Given the description of an element on the screen output the (x, y) to click on. 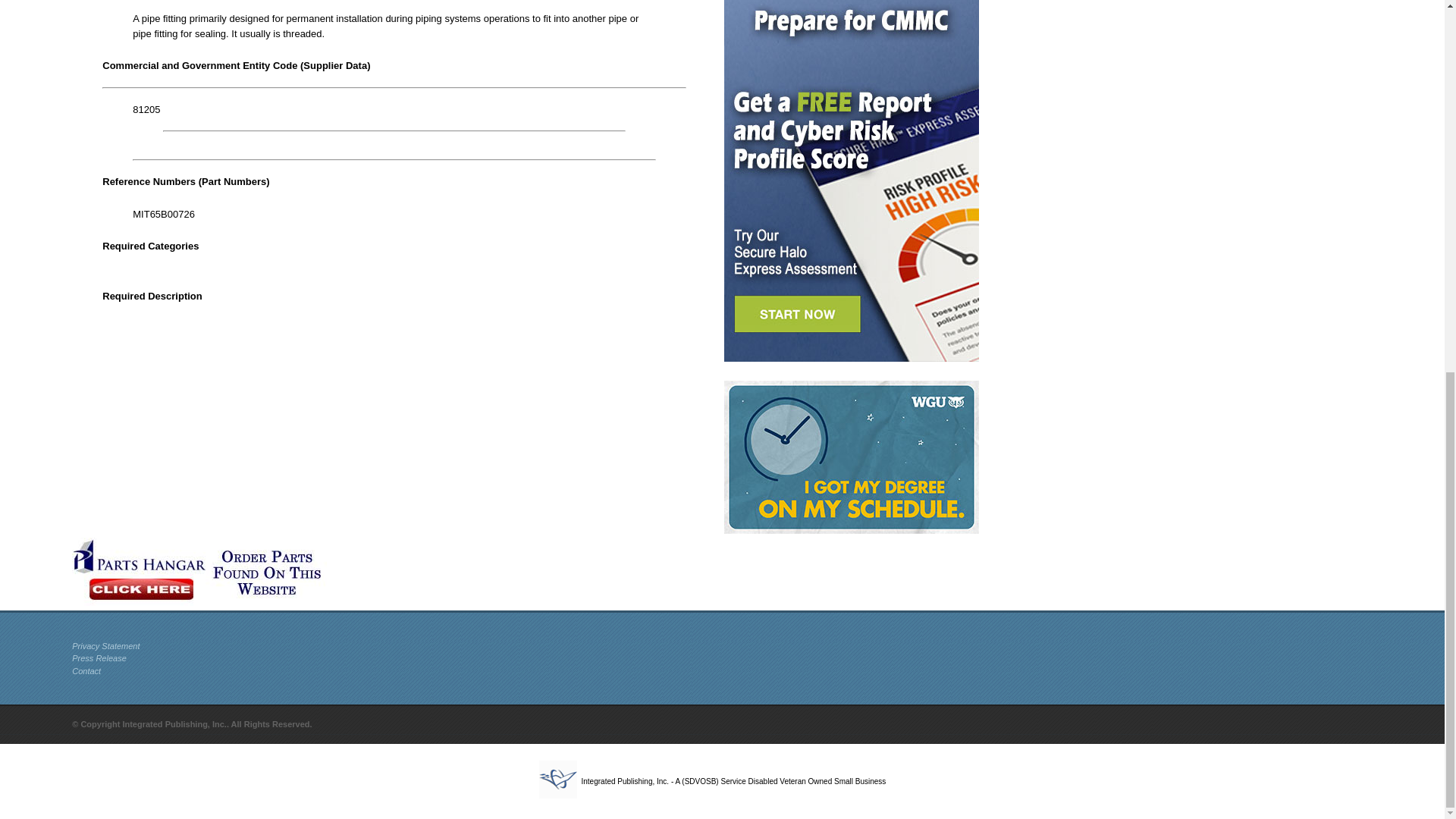
Contact (85, 670)
Privacy Statement (105, 645)
Press Release (98, 657)
